Given the description of an element on the screen output the (x, y) to click on. 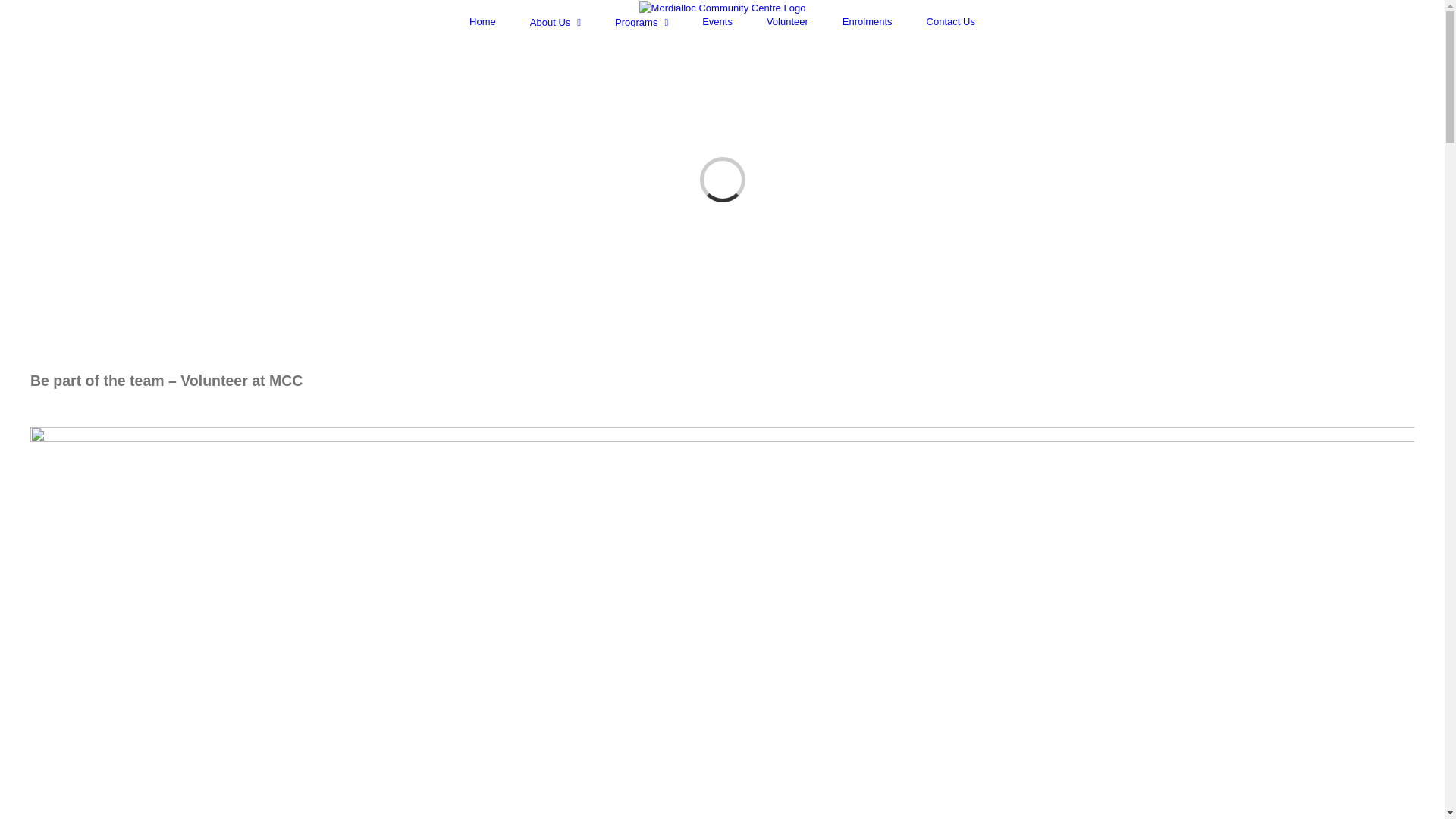
Home Element type: text (482, 21)
Volunteer Element type: text (787, 21)
About Us Element type: text (555, 21)
Enrolments Element type: text (867, 21)
Programs Element type: text (641, 21)
Contact Us Element type: text (950, 21)
Events Element type: text (717, 21)
